Given the description of an element on the screen output the (x, y) to click on. 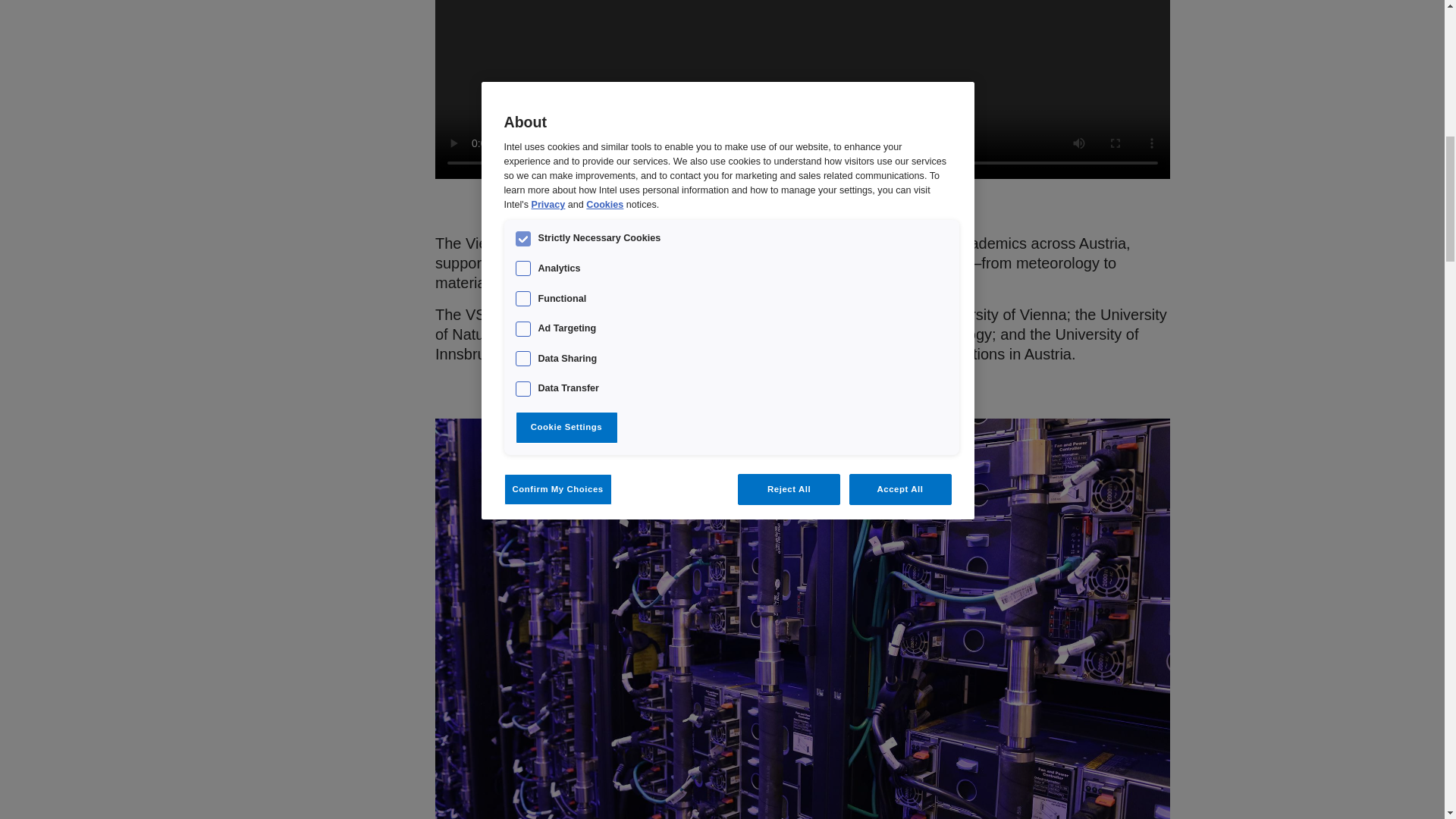
Play Video (801, 3)
